Given the description of an element on the screen output the (x, y) to click on. 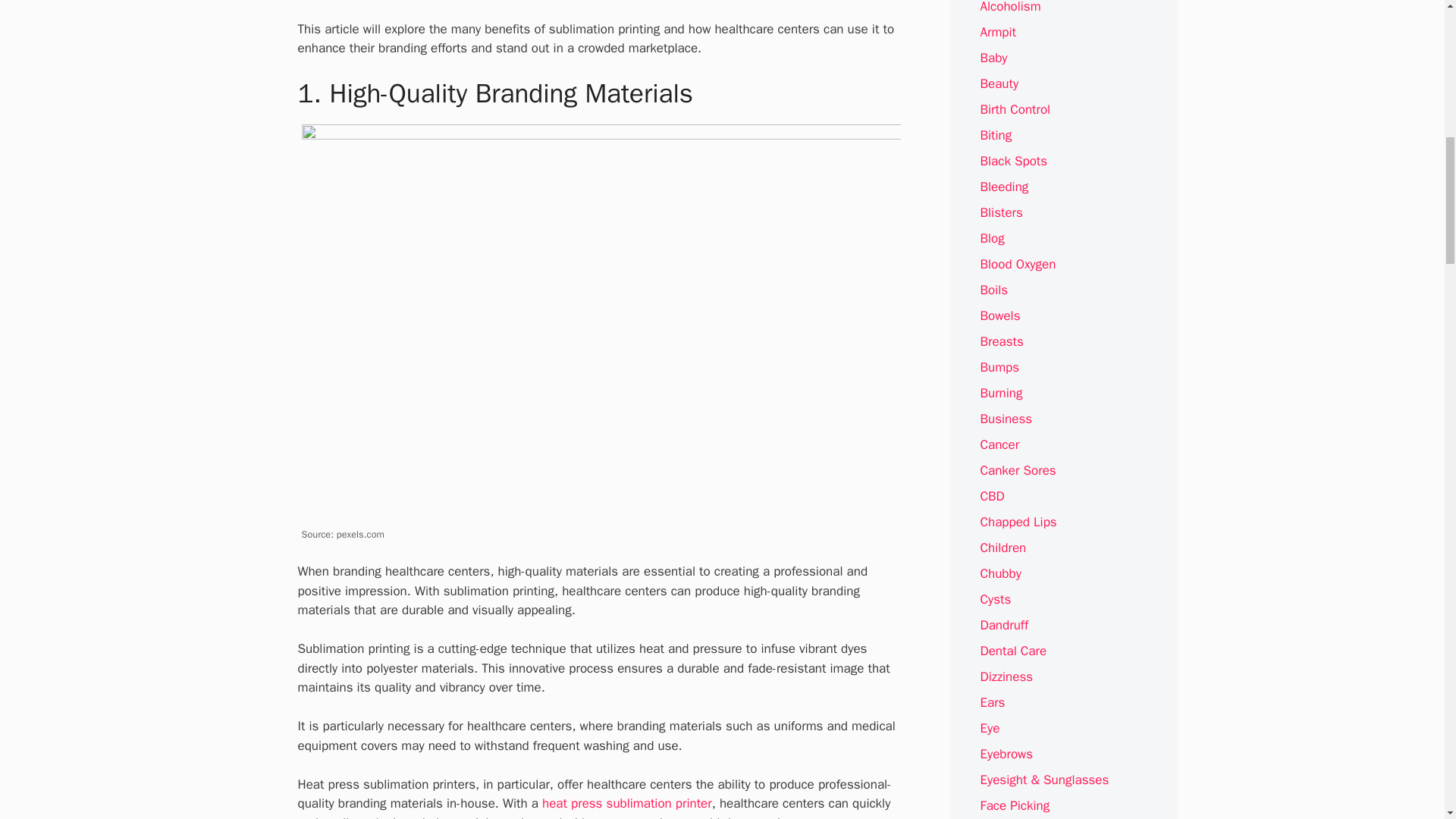
Armpit (997, 32)
Alcoholism (1010, 7)
heat press sublimation printer (626, 803)
